Given the description of an element on the screen output the (x, y) to click on. 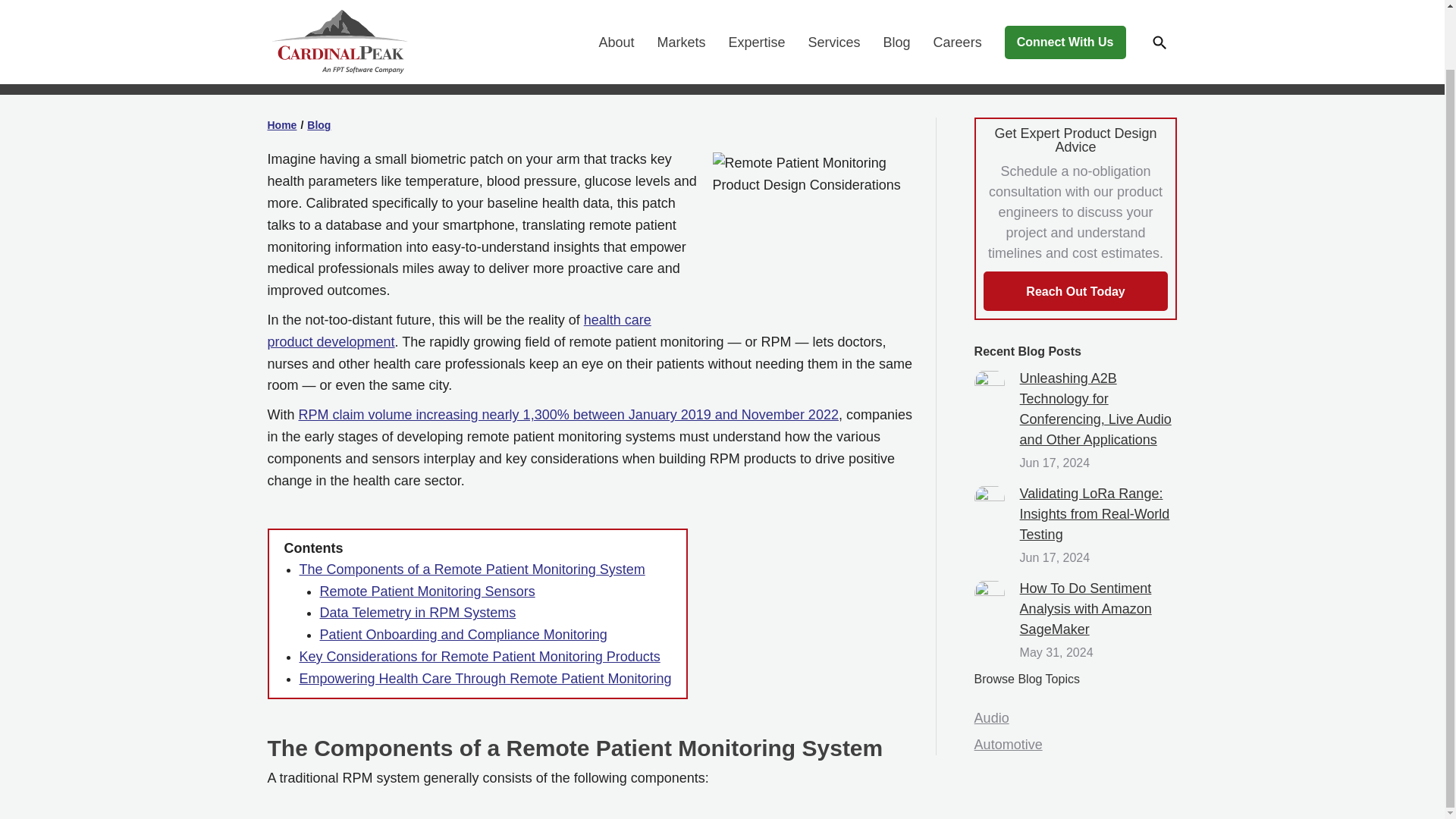
Cardinal Peak Product Development Services Company (336, 5)
Cardinal Peak Product Development Services Company (338, 4)
